Given the description of an element on the screen output the (x, y) to click on. 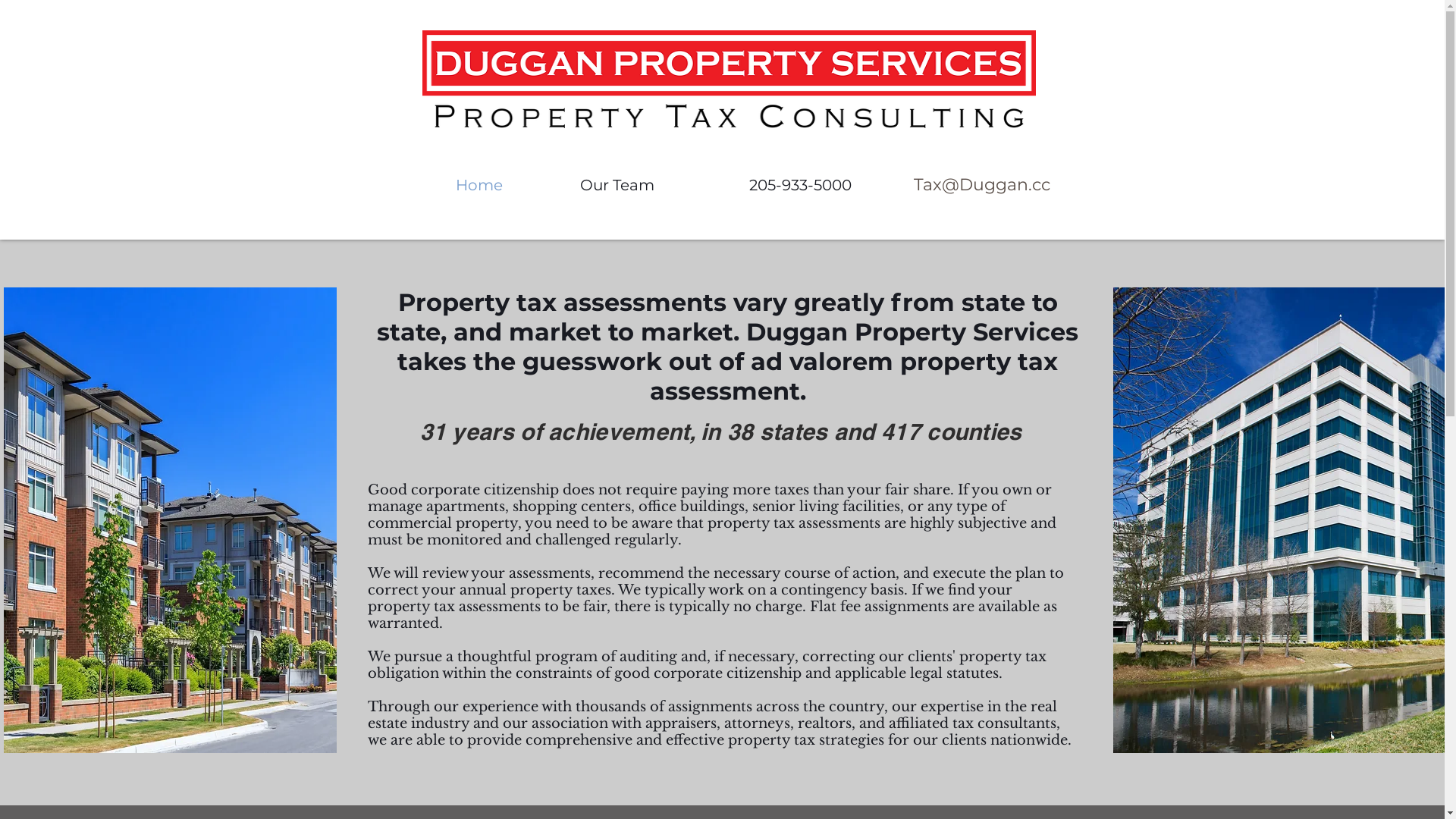
Our Team Element type: text (617, 185)
Home Element type: text (479, 185)
Tax@Duggan.cc Element type: text (981, 185)
